Given the description of an element on the screen output the (x, y) to click on. 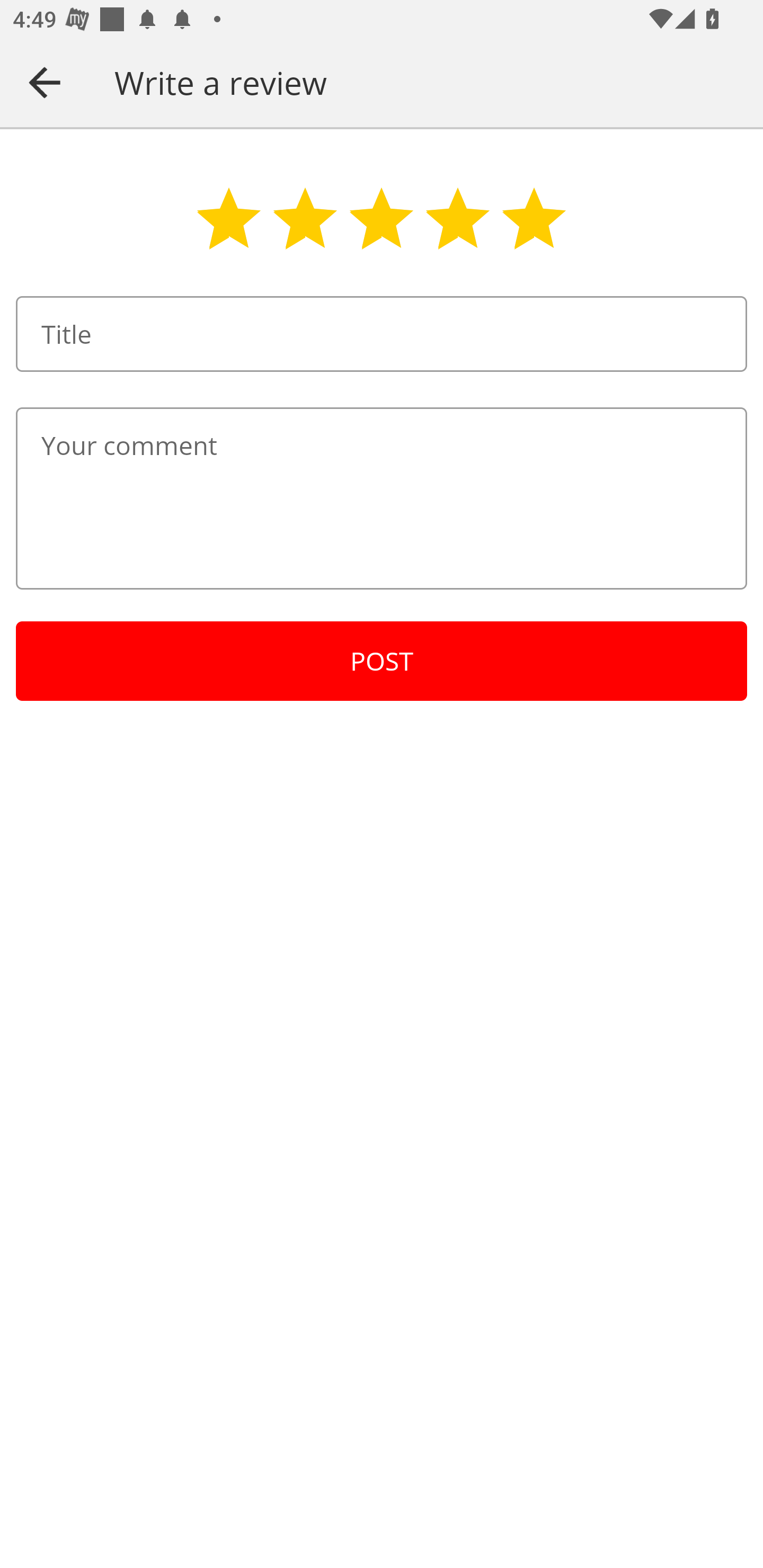
Navigate up (44, 82)
Title (381, 333)
Your comment (381, 498)
POST (381, 660)
